Given the description of an element on the screen output the (x, y) to click on. 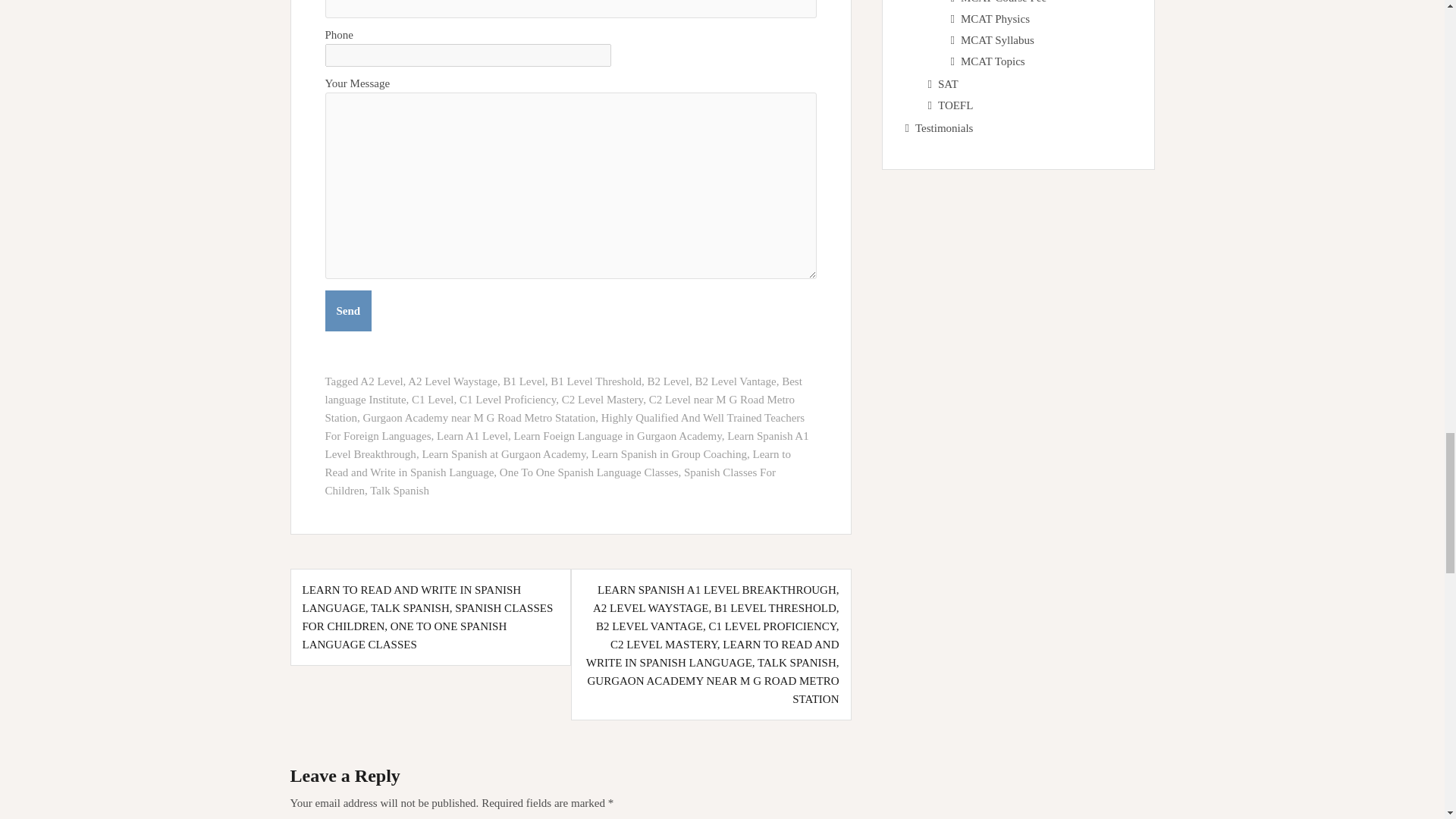
Send (347, 310)
